Given the description of an element on the screen output the (x, y) to click on. 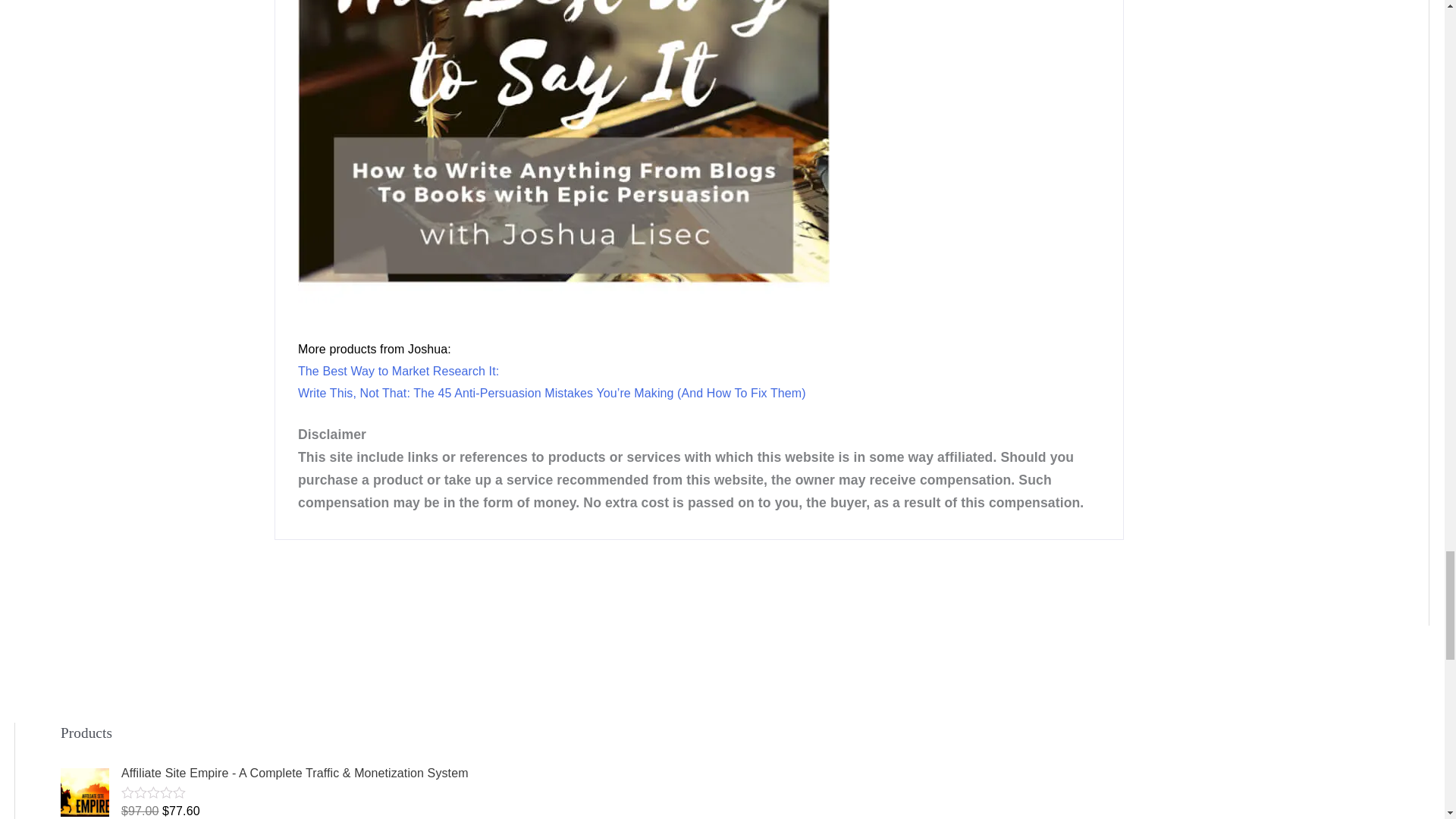
The Best Way to Market Research It:  (400, 370)
